Given the description of an element on the screen output the (x, y) to click on. 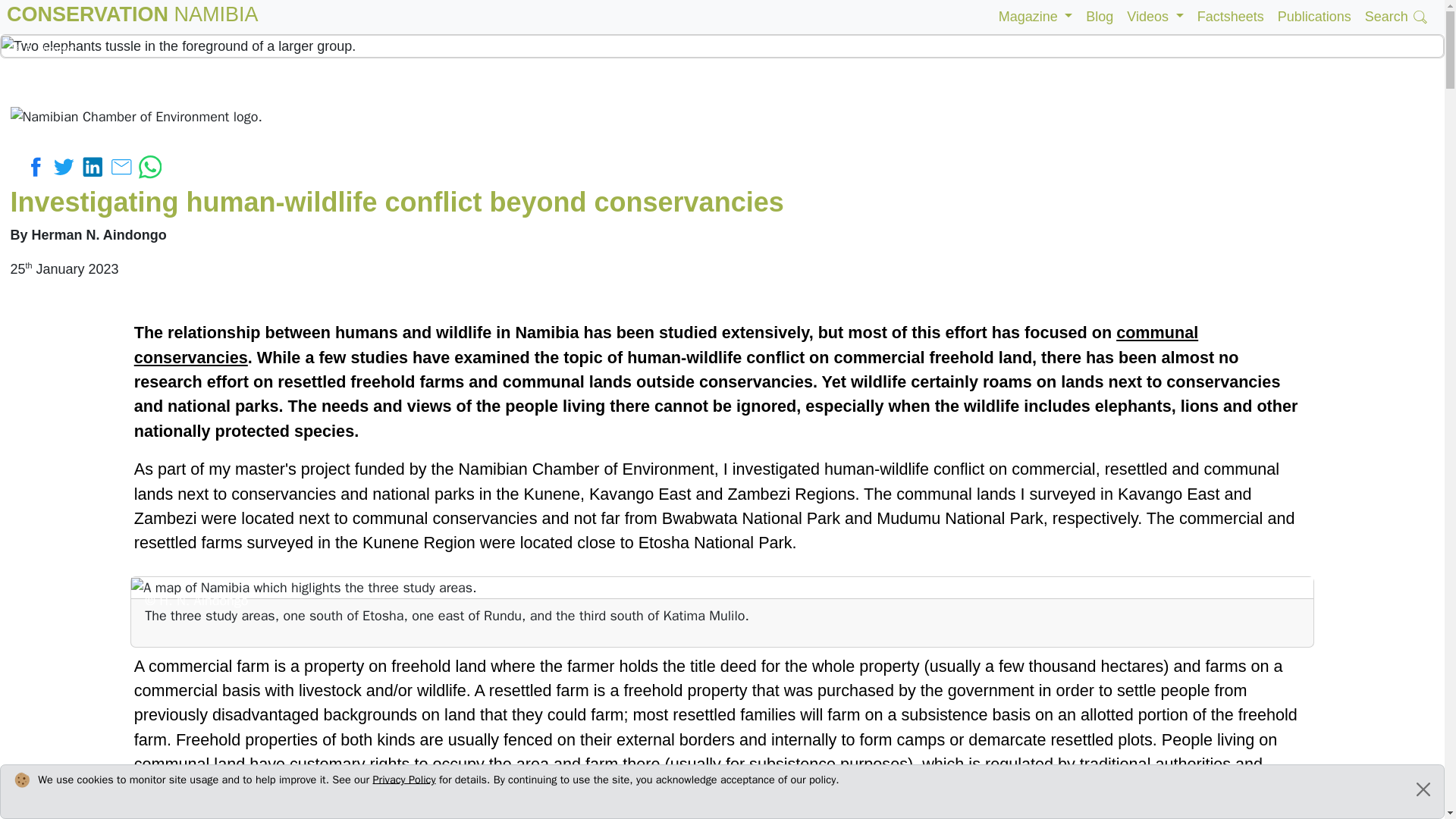
Share to Twitter (66, 165)
LinkedIn (93, 166)
Click to open our custom site search page. (1396, 16)
Search (1396, 16)
Videos (1154, 16)
Click to return to our main home page (133, 16)
WhatsApp Inline SVG representation of green WhatsApp logo (150, 166)
Click to go to our wonderful factsheets (1231, 16)
Facebook (133, 16)
Factsheets (36, 166)
Twitter (1231, 16)
WhatsApp Inline SVG representation of green WhatsApp logo (66, 165)
Click to go to our longer publications (150, 165)
communal conservancies (1314, 16)
